Given the description of an element on the screen output the (x, y) to click on. 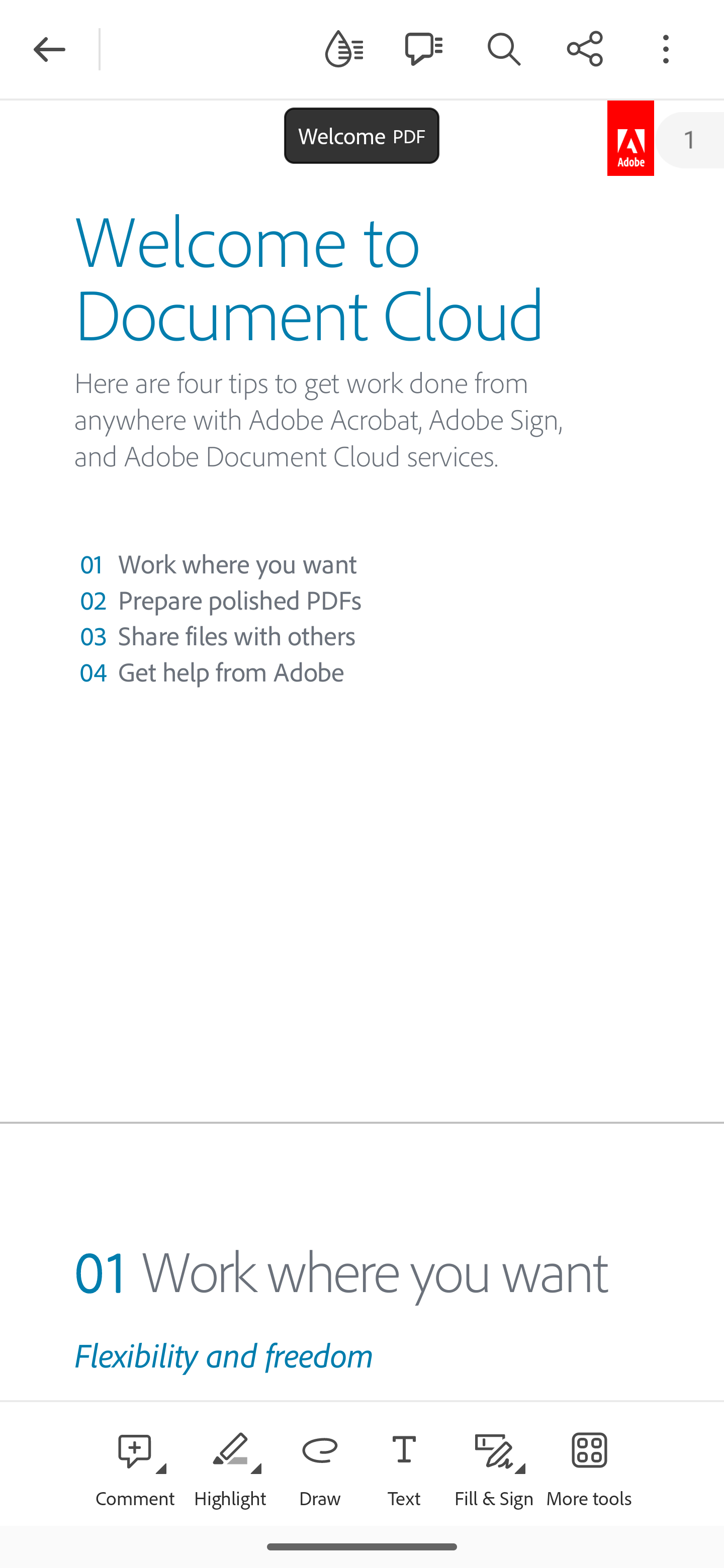
Back (49, 49)
Turn on Liquid Mode (343, 48)
Find keyword in document (503, 48)
Share this document with others (584, 48)
More options (665, 48)
Comments (423, 48)
Comment (134, 1463)
Highlight (229, 1463)
Draw (319, 1463)
Text (404, 1463)
Fill & Sign (493, 1463)
More tools (588, 1463)
